Given the description of an element on the screen output the (x, y) to click on. 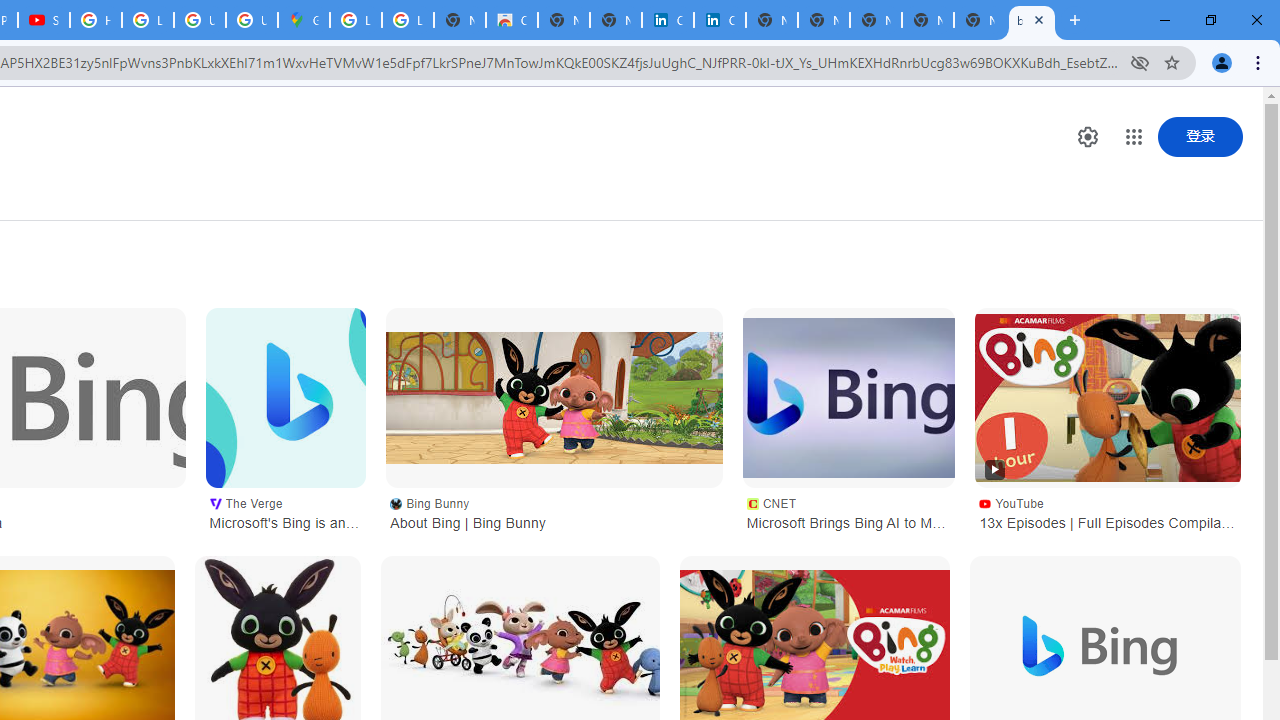
Chrome Web Store (511, 20)
About Bing | Bing Bunny (554, 398)
About Bing | Bing Bunny (554, 397)
How Chrome protects your passwords - Google Chrome Help (95, 20)
